Given the description of an element on the screen output the (x, y) to click on. 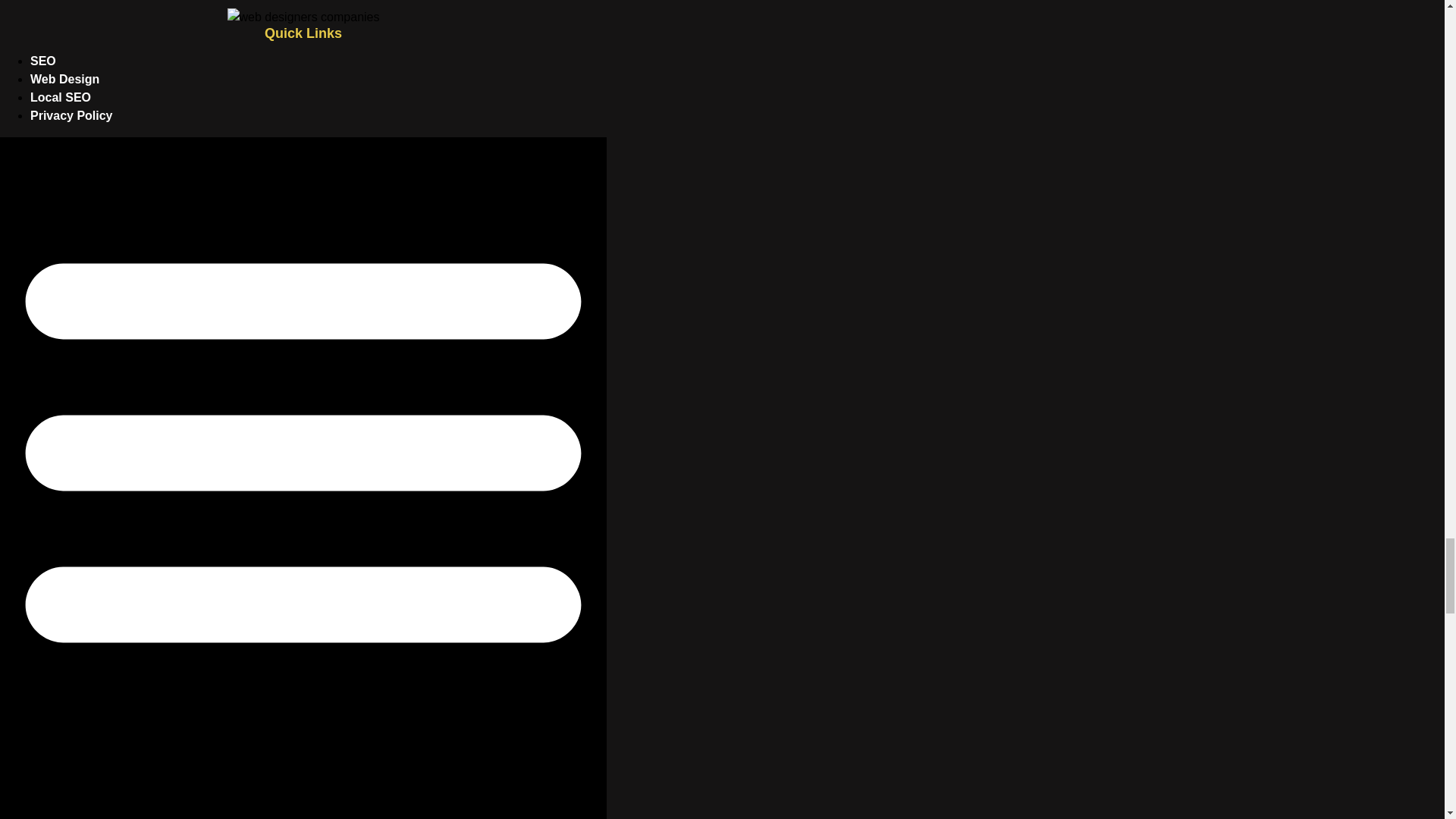
Local SEO (60, 97)
Web Design (64, 78)
web designers companies (303, 17)
SEO (43, 60)
Privacy Policy (71, 115)
